Given the description of an element on the screen output the (x, y) to click on. 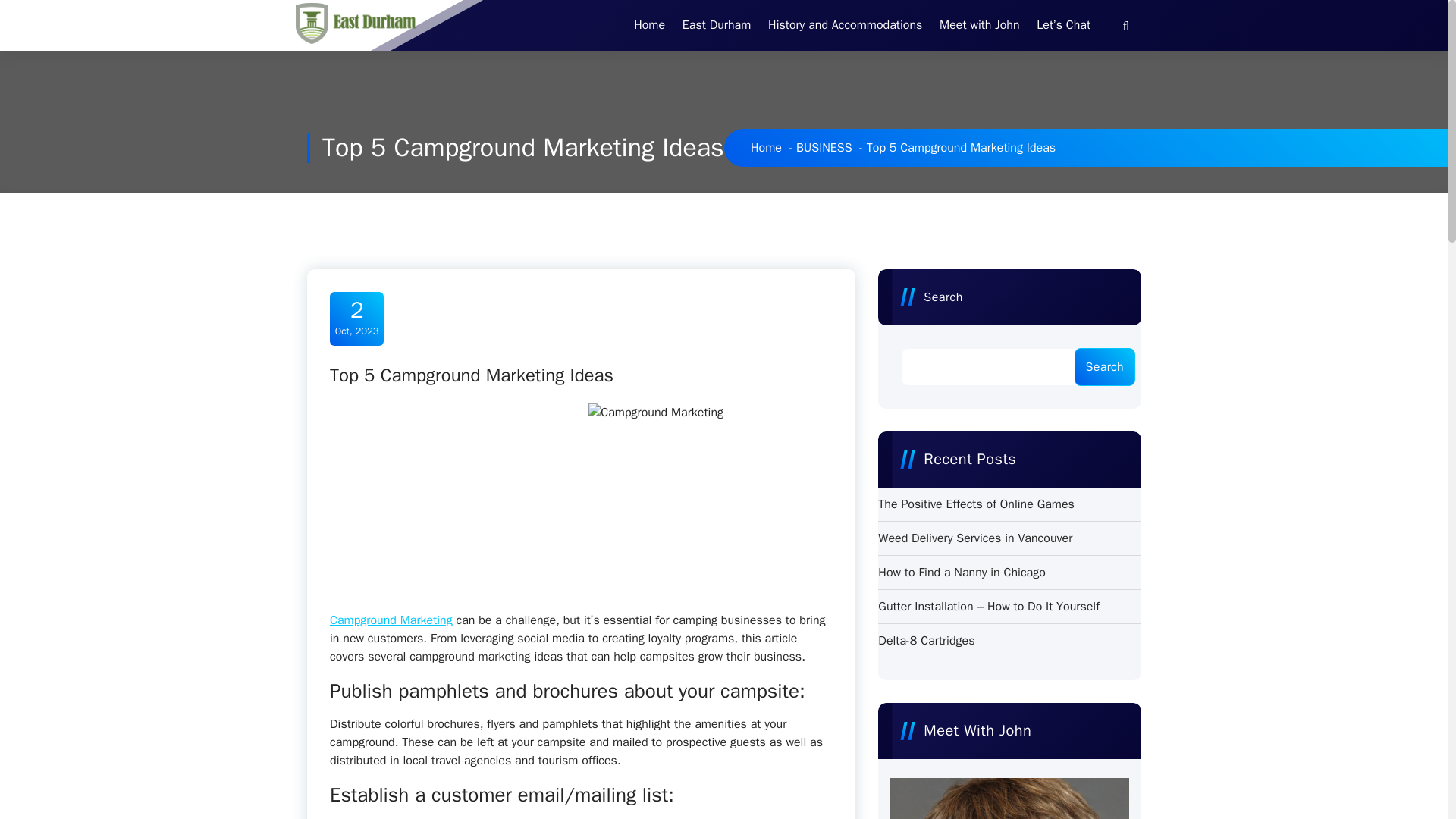
History and Accommodations (844, 25)
How to Find a Nanny in Chicago (961, 572)
Delta-8 Cartridges (925, 640)
The Positive Effects of Online Games (975, 504)
Home (649, 25)
ColorPress (1112, 784)
East Durham (716, 25)
BUSINESS (823, 147)
East Durham (716, 25)
Meet with John (978, 25)
Meet with John (978, 25)
Home (649, 25)
Campground Marketing (391, 620)
Search (1104, 366)
